Given the description of an element on the screen output the (x, y) to click on. 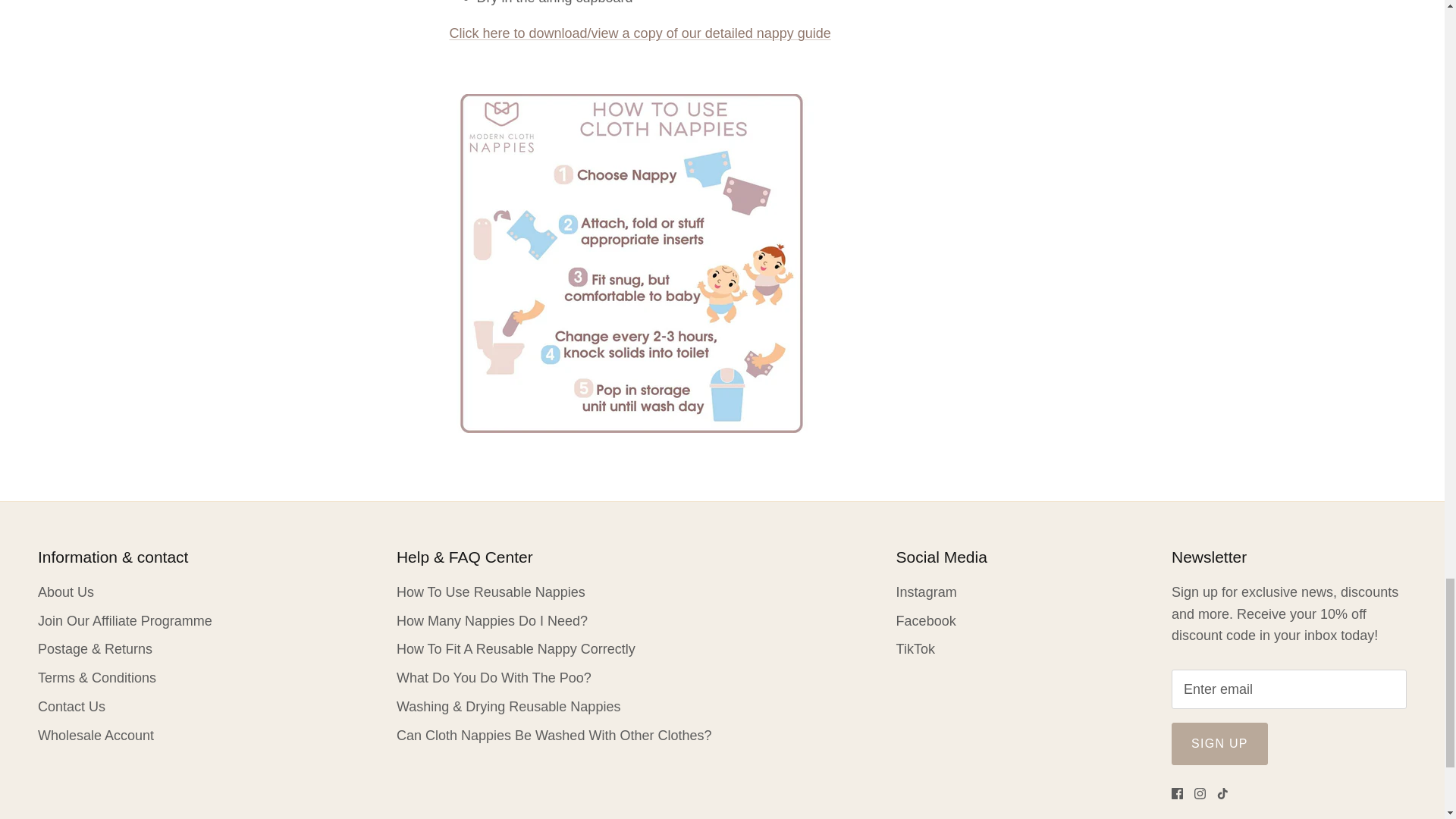
How to use modern cloth nappies (638, 32)
Instagram (1199, 793)
Facebook (1177, 793)
